Given the description of an element on the screen output the (x, y) to click on. 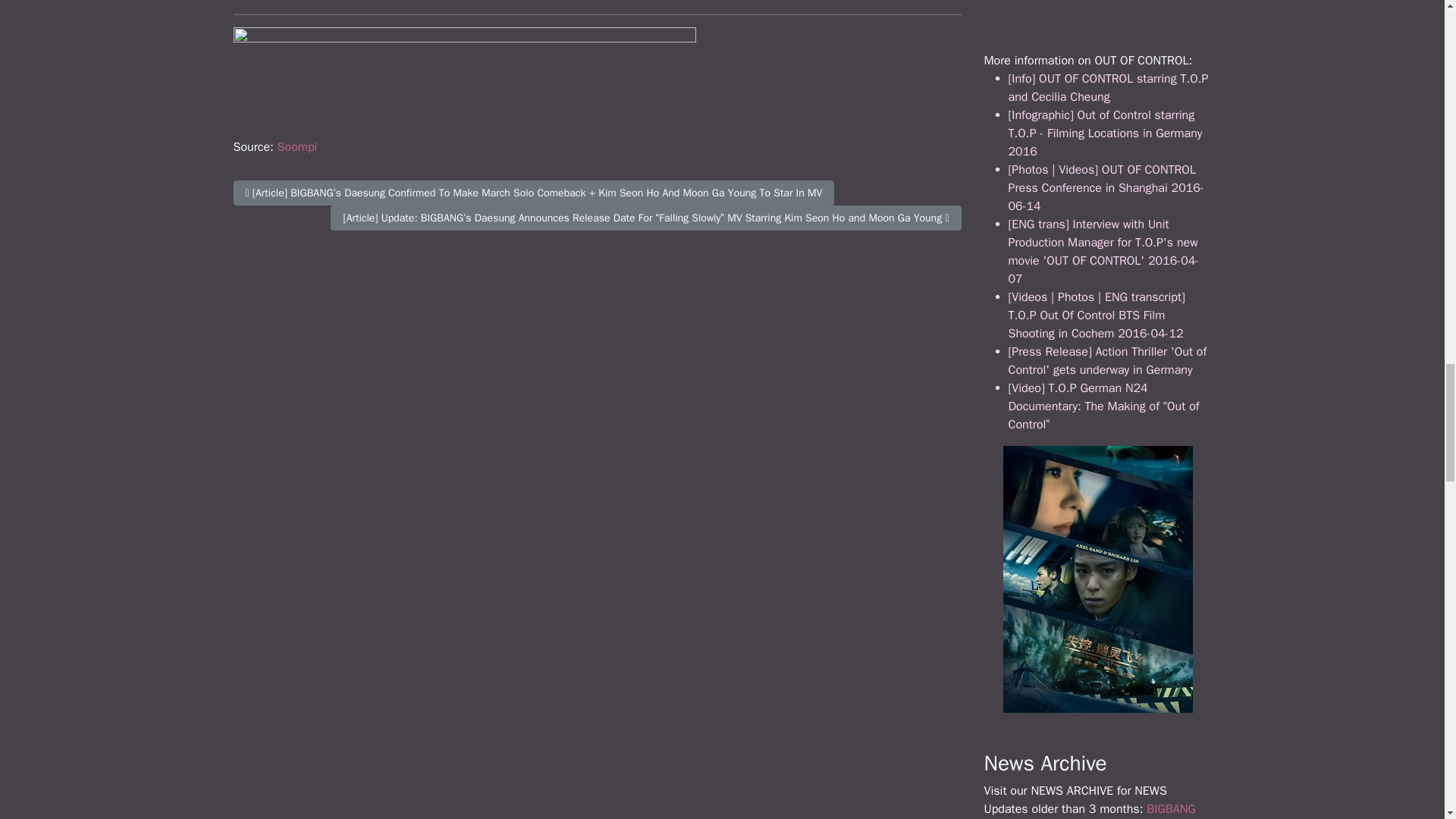
Soompi (297, 146)
